Given the description of an element on the screen output the (x, y) to click on. 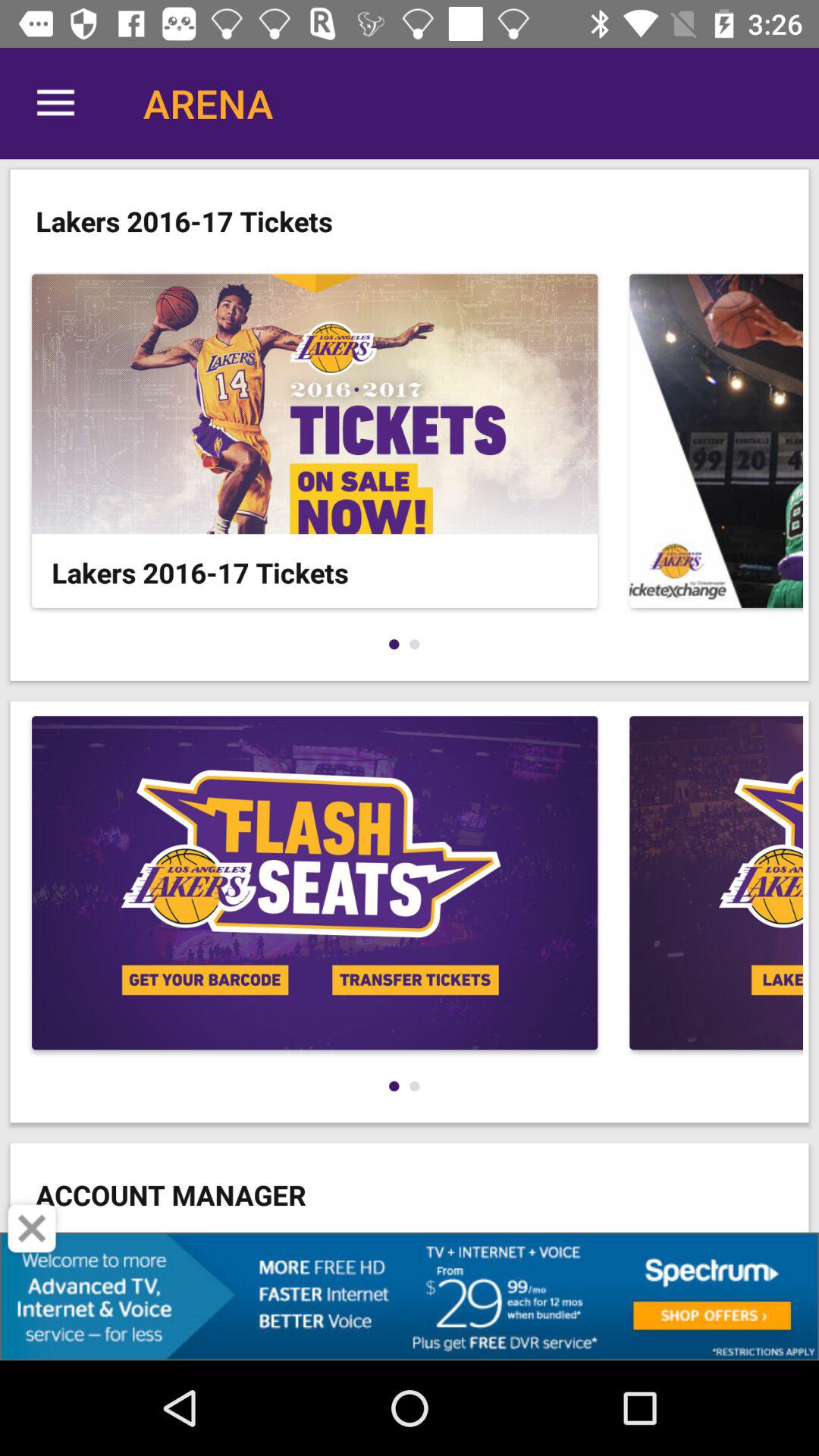
close the advertisement (31, 1228)
